Given the description of an element on the screen output the (x, y) to click on. 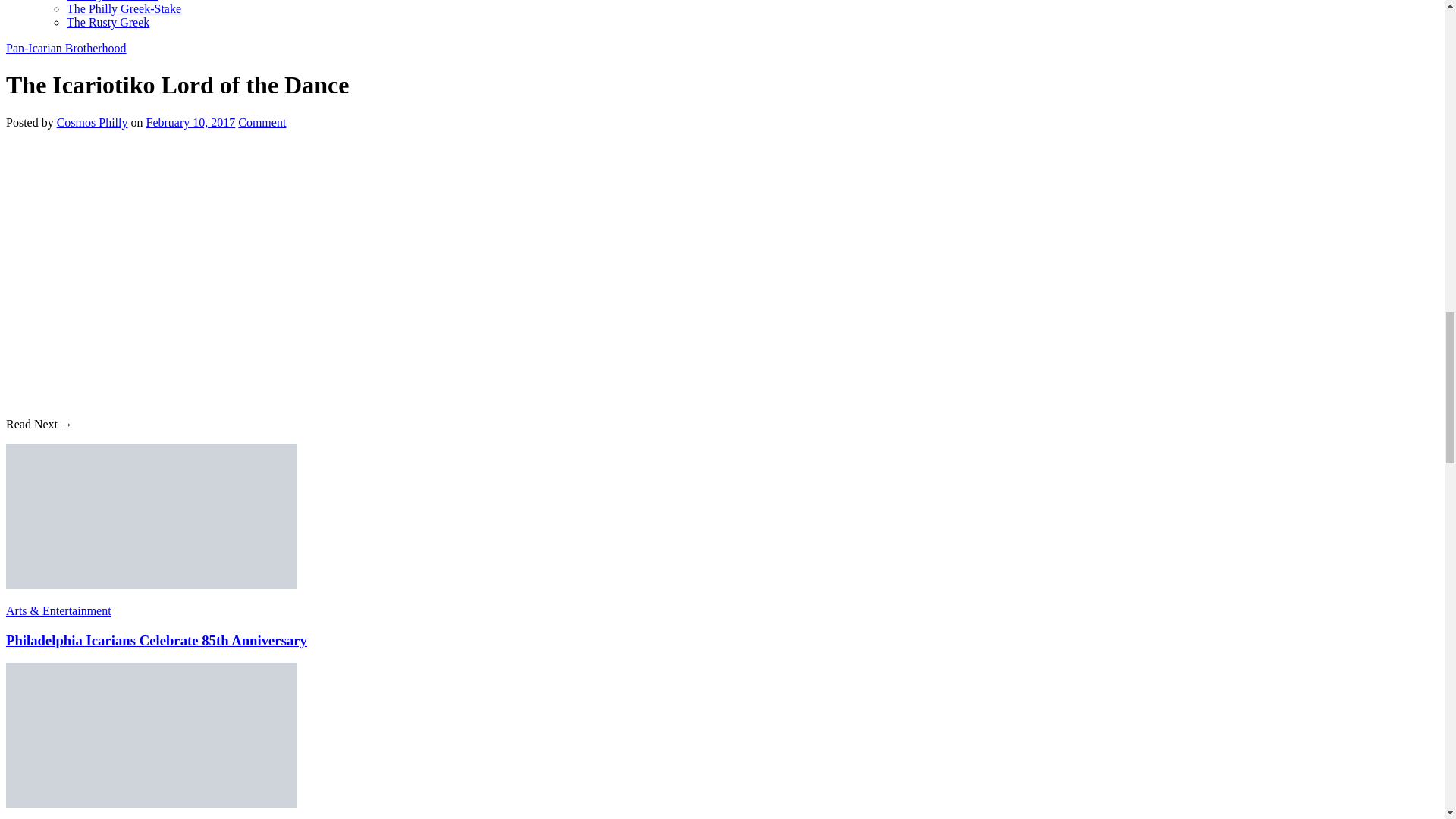
The Icariotiko Lord of the Dance (248, 265)
